Given the description of an element on the screen output the (x, y) to click on. 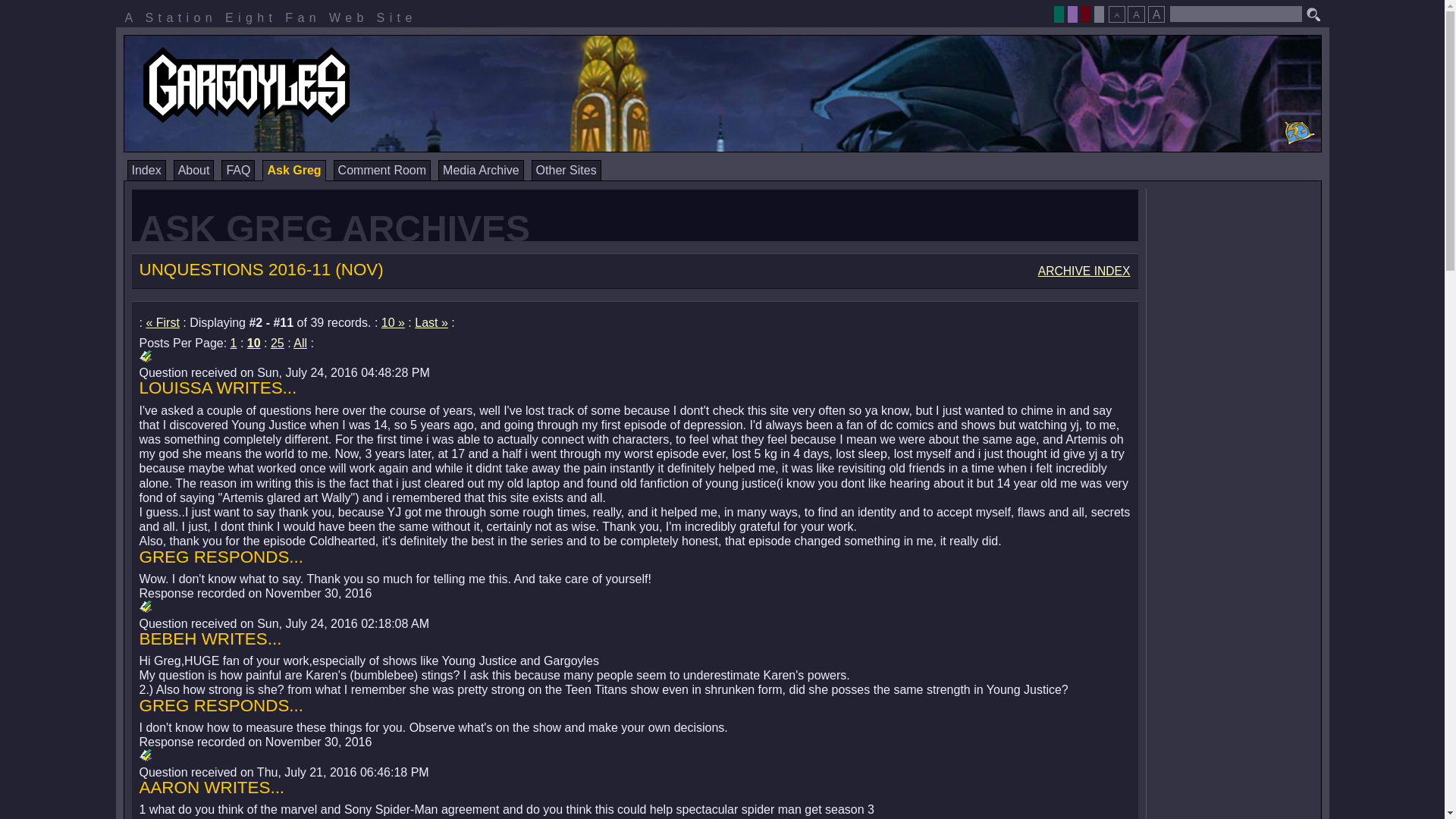
Ask Greg (293, 169)
Select the font size the best suits your needs. (1135, 9)
Comment Room (381, 169)
Standard Font Size (1135, 13)
FAQ (237, 169)
Large Font Size (1156, 13)
A (1135, 13)
Index (146, 169)
A (1156, 13)
Media Archive (481, 169)
